Given the description of an element on the screen output the (x, y) to click on. 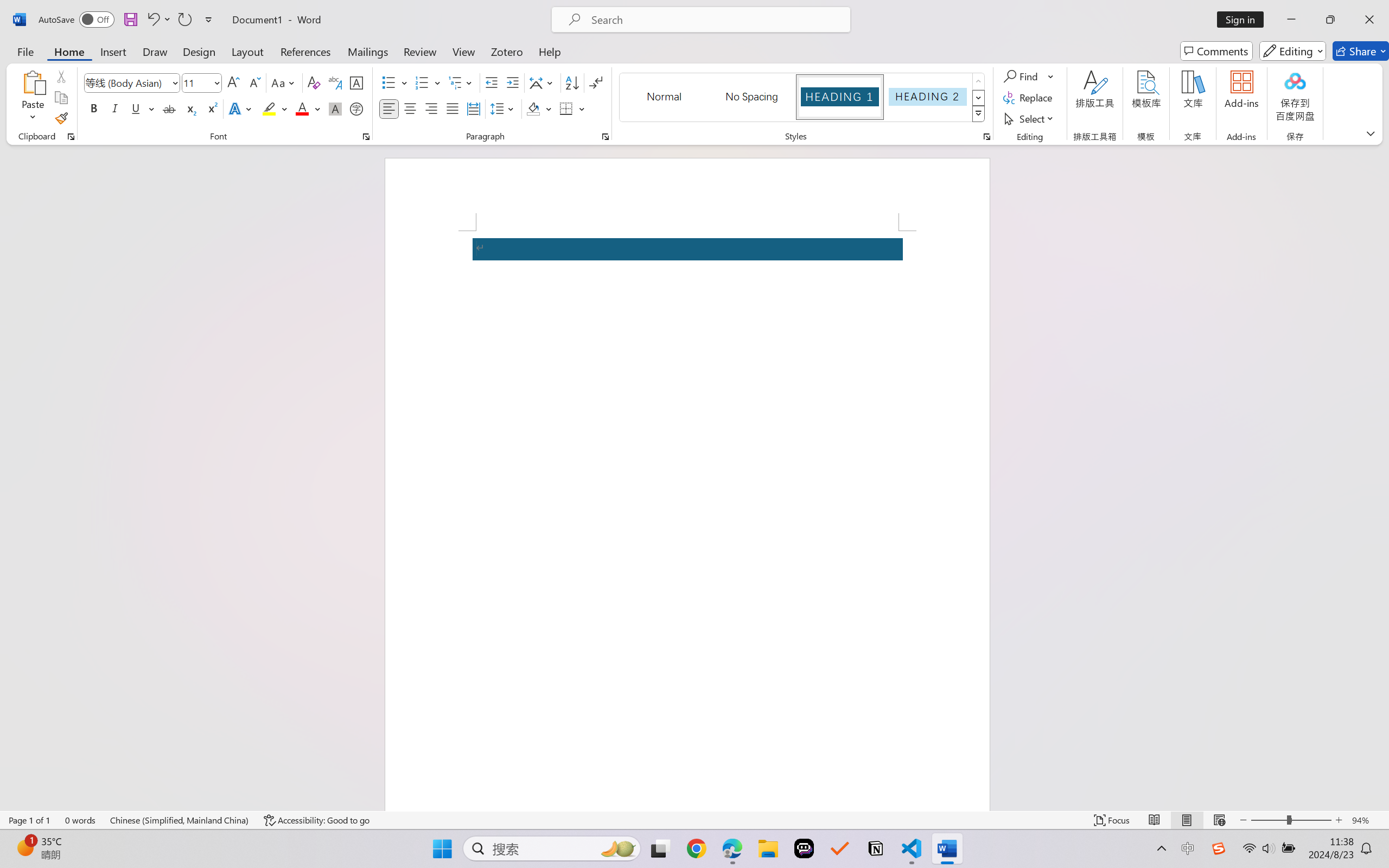
Language Chinese (Simplified, Mainland China) (179, 819)
Sign in (1244, 19)
